Given the description of an element on the screen output the (x, y) to click on. 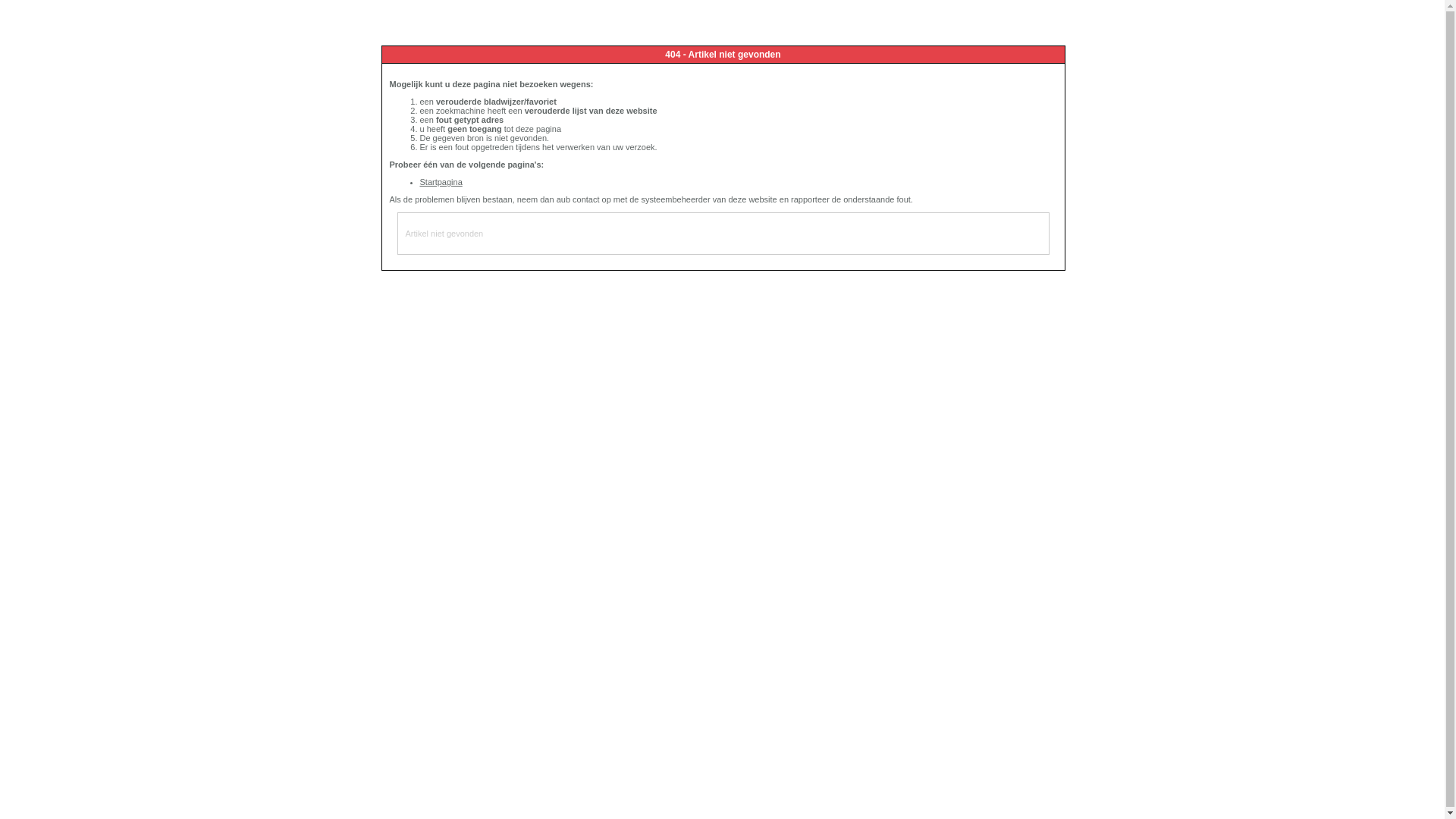
Startpagina Element type: text (441, 181)
